Given the description of an element on the screen output the (x, y) to click on. 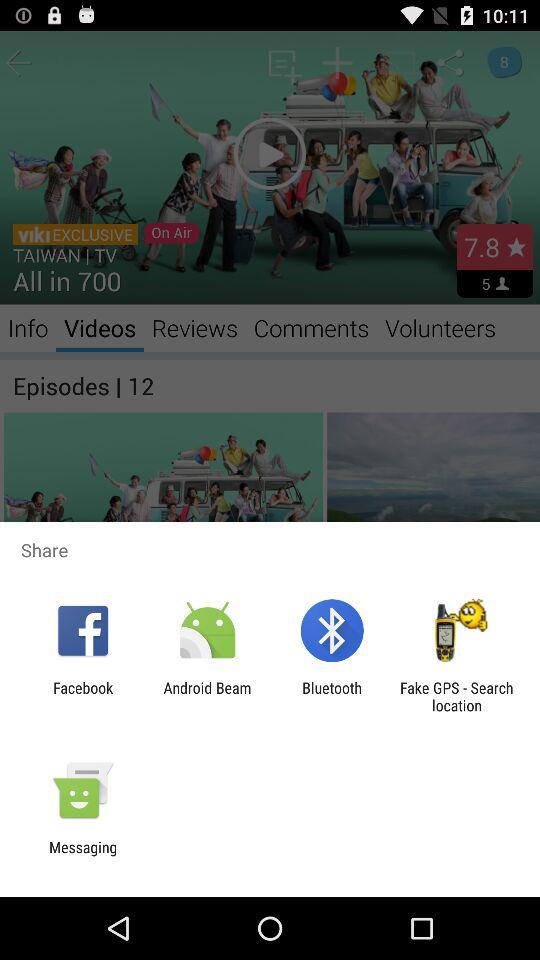
select the item next to bluetooth icon (456, 696)
